Given the description of an element on the screen output the (x, y) to click on. 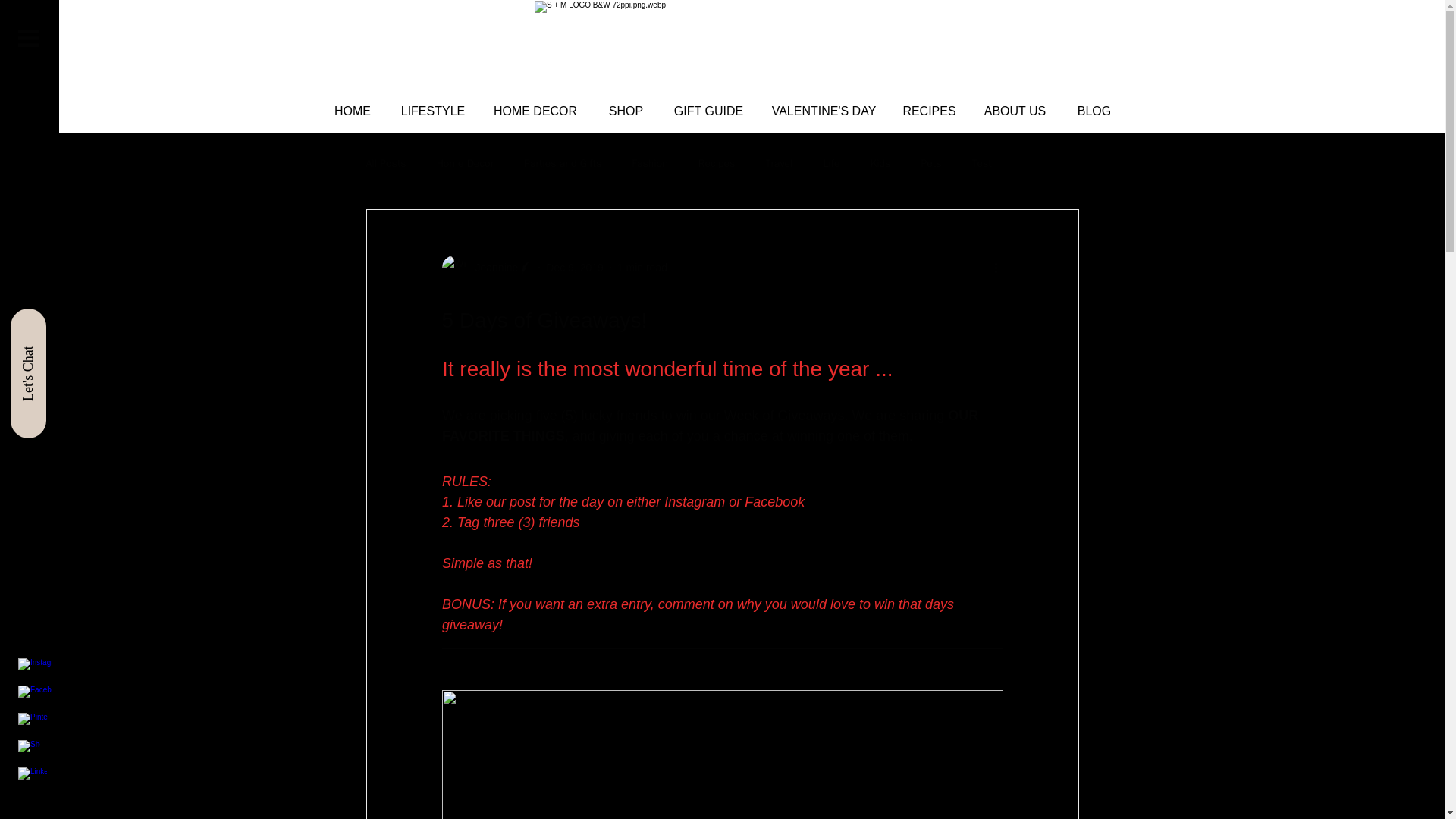
HOME (352, 111)
VALENTINE'S DAY (823, 111)
BLOG (1093, 111)
Jeannine (491, 267)
LIFESTYLE (433, 111)
HOME DECOR (534, 111)
All Posts (385, 163)
SHOP (625, 111)
1 min read (641, 266)
GIFT GUIDE (708, 111)
